Given the description of an element on the screen output the (x, y) to click on. 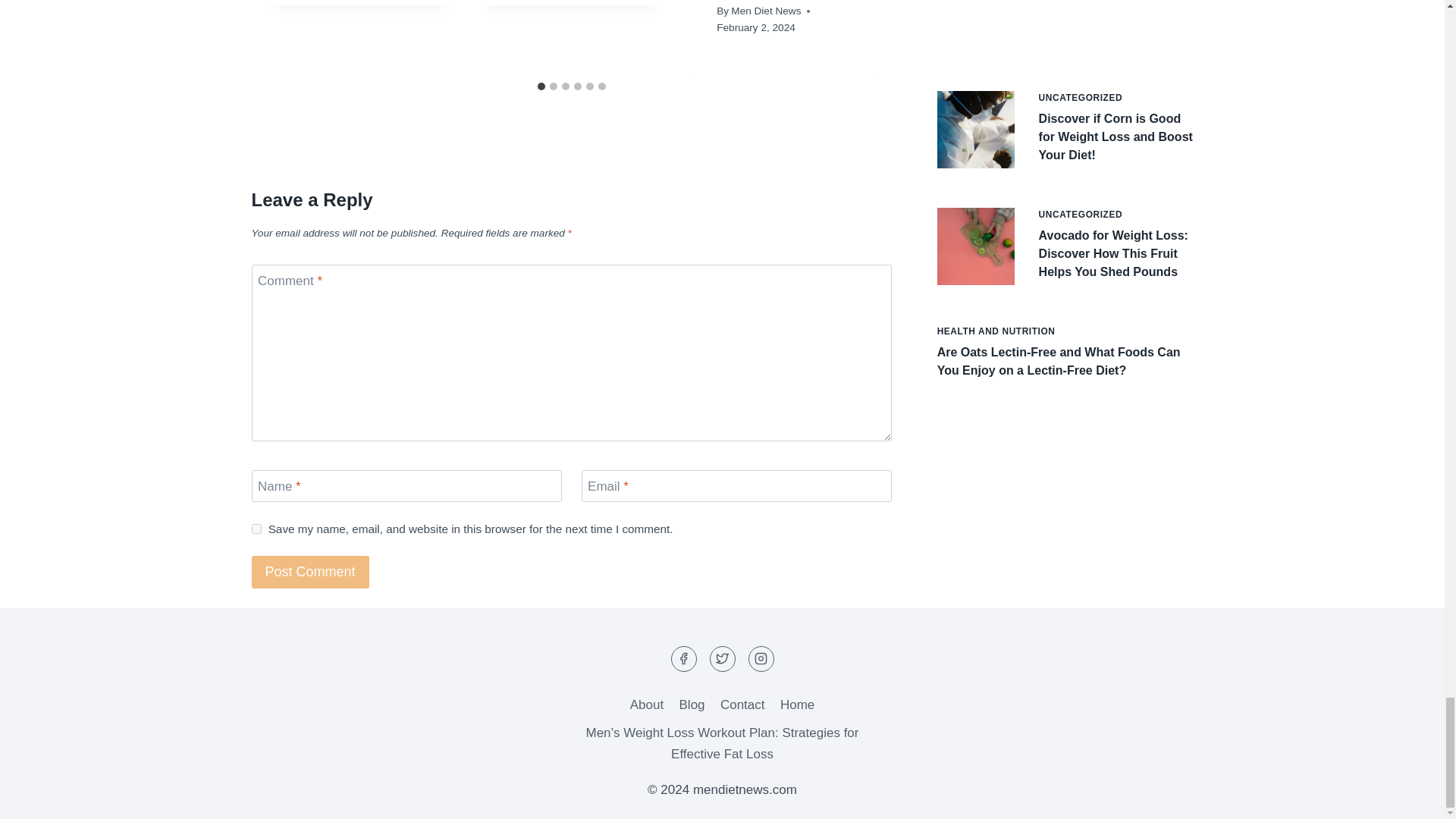
Men Diet News (765, 10)
Post Comment (310, 572)
yes (256, 528)
